Given the description of an element on the screen output the (x, y) to click on. 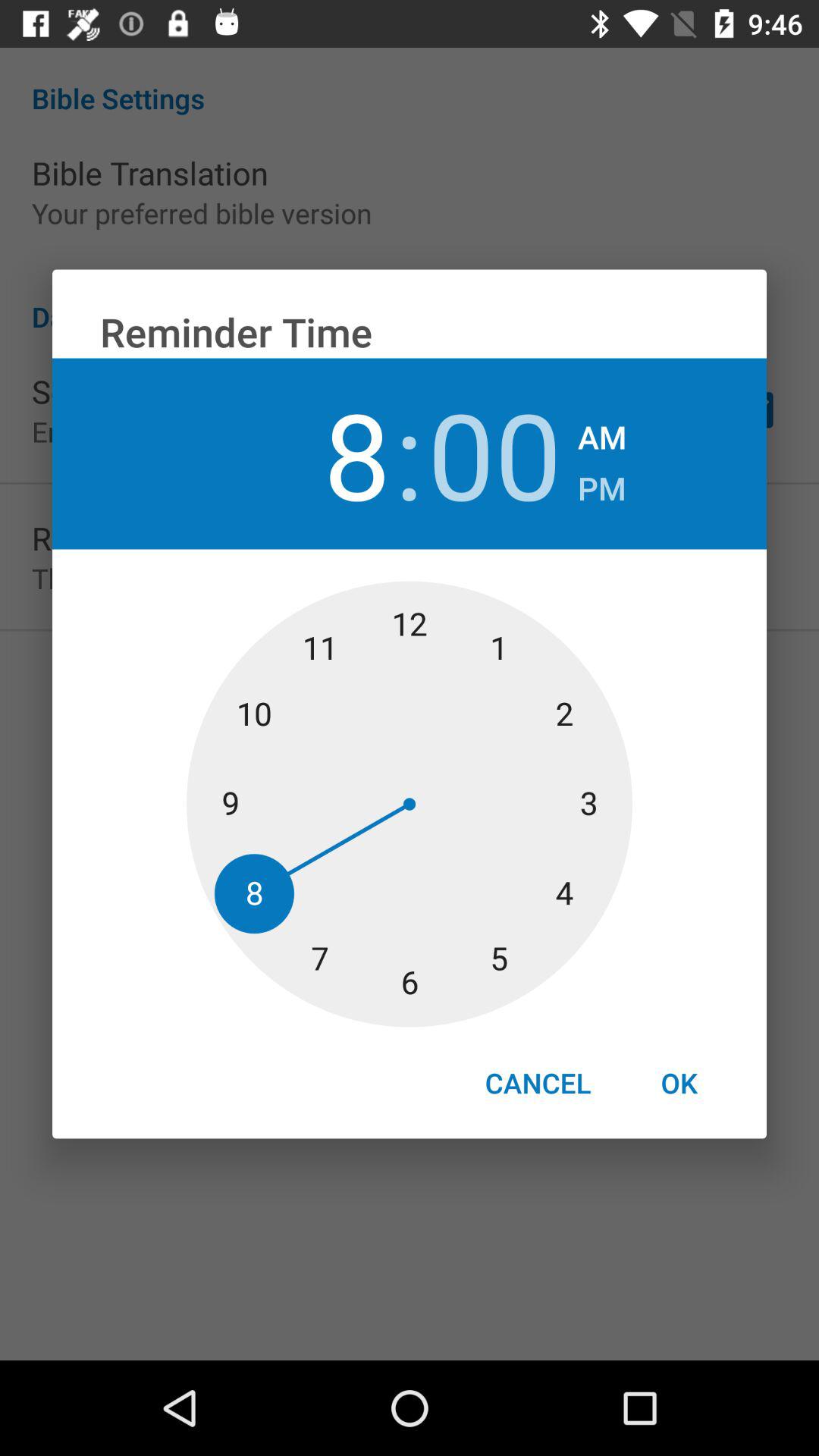
select pm icon (601, 483)
